Given the description of an element on the screen output the (x, y) to click on. 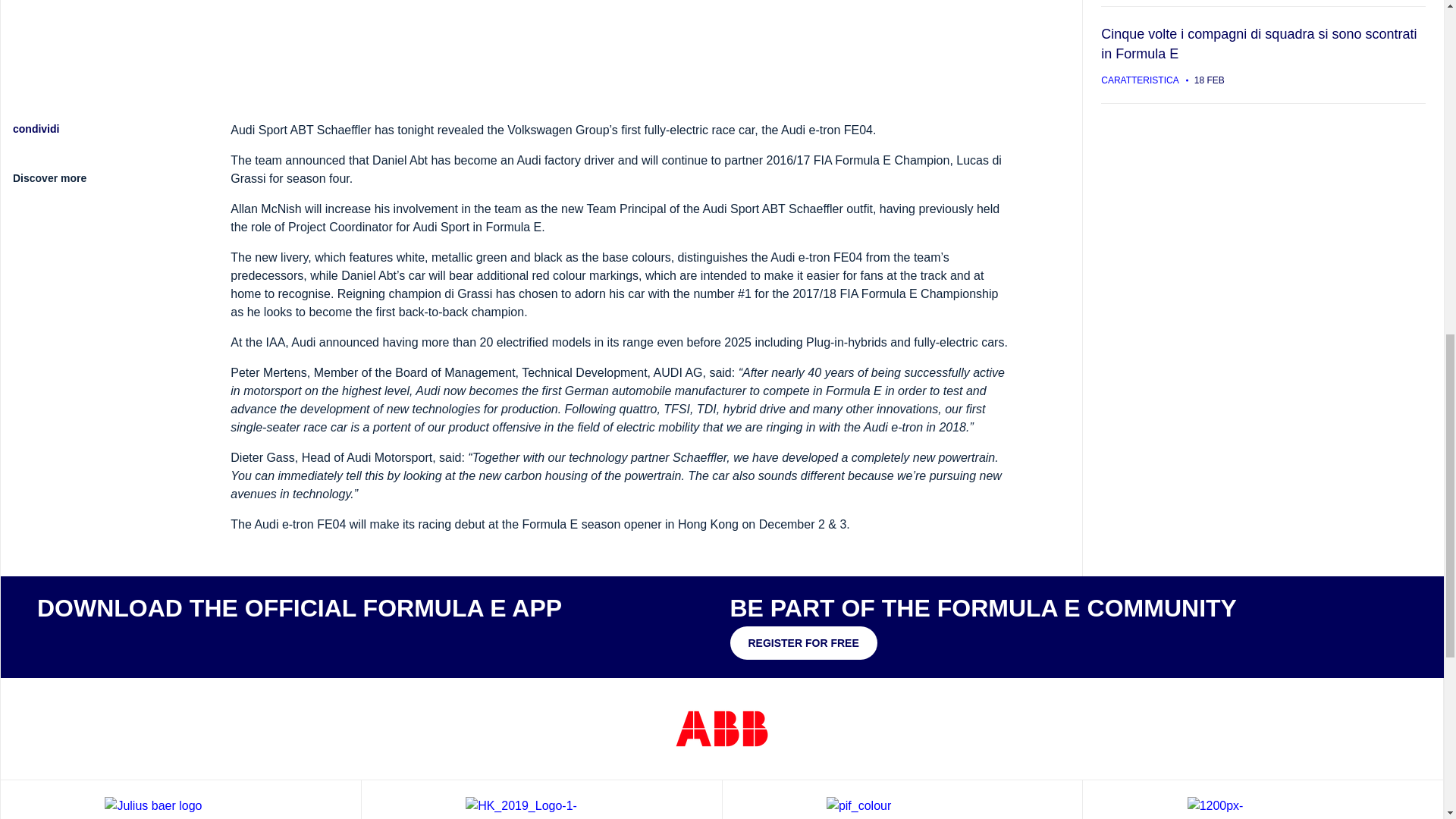
Register for free (802, 643)
Partner principale (1263, 802)
label.promo.apple.link (81, 640)
Title Partner (721, 728)
Public Investment Fund (902, 802)
label.promo.google.link (175, 640)
Partner globale (180, 802)
Partner tecnico (541, 802)
